Given the description of an element on the screen output the (x, y) to click on. 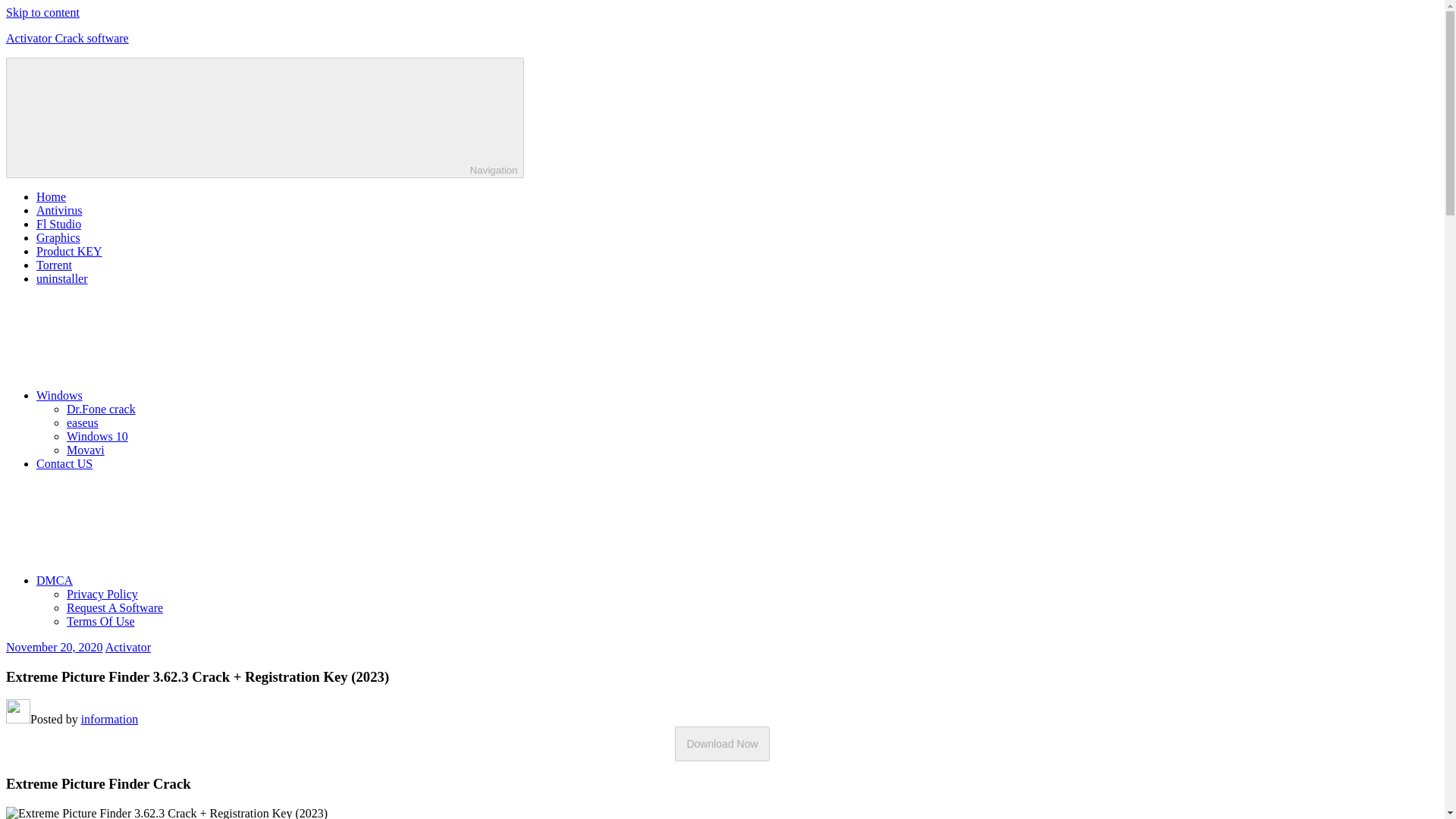
View all posts by information (109, 718)
Navigation (264, 117)
Windows 10 (97, 436)
DMCA (167, 580)
Product KEY (68, 250)
Privacy Policy (102, 594)
November 20, 2020 (54, 646)
information (109, 718)
Skip to content (42, 11)
Request A Software (114, 607)
Home (50, 196)
Terms Of Use (100, 621)
Download Now (721, 743)
Dr.Fone crack (100, 408)
Activator Crack software (67, 38)
